Given the description of an element on the screen output the (x, y) to click on. 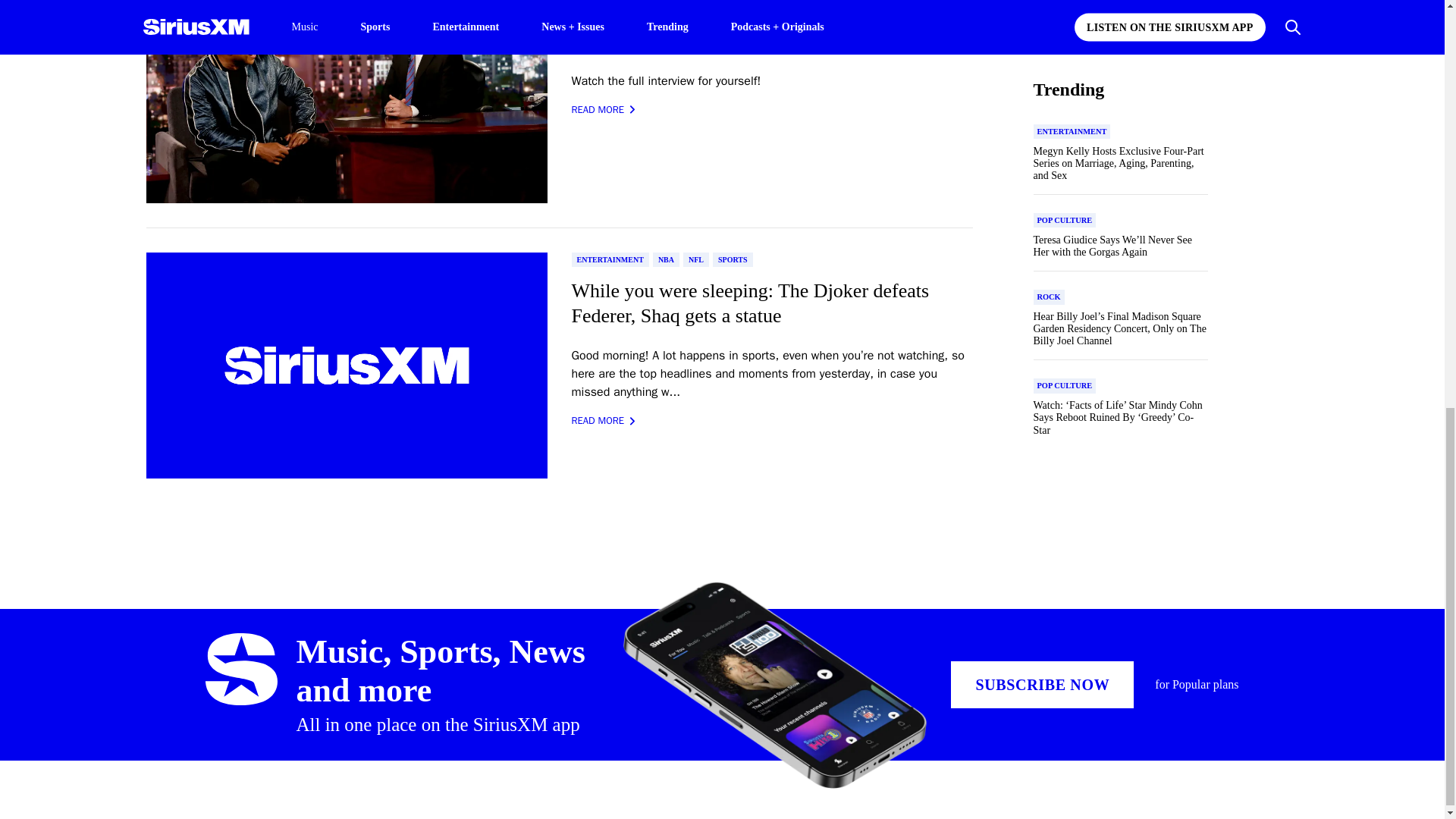
READ MORE (603, 109)
NFL (695, 259)
ENTERTAINMENT (610, 259)
NBA (665, 259)
